Given the description of an element on the screen output the (x, y) to click on. 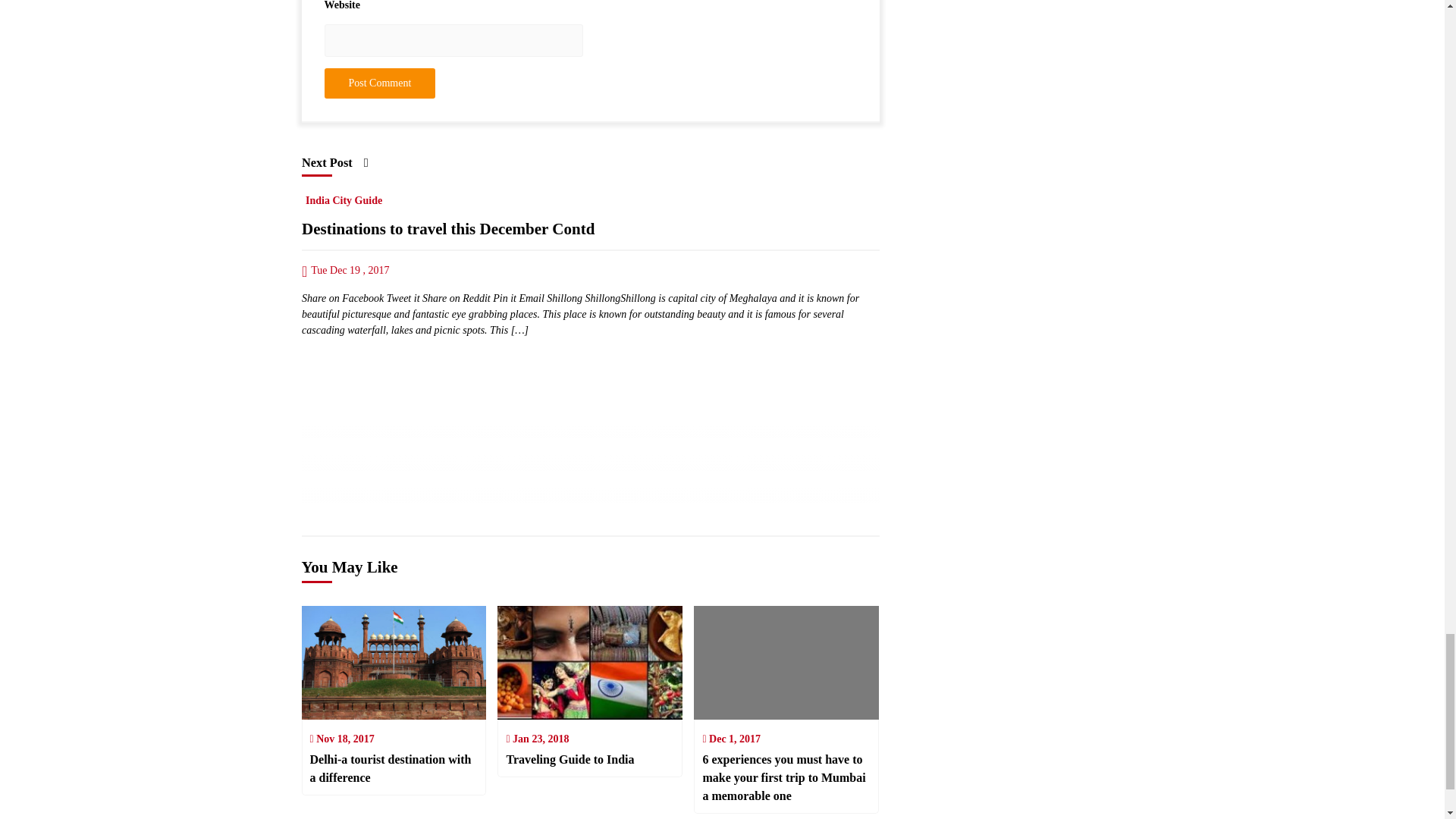
Post Comment (379, 82)
